Given the description of an element on the screen output the (x, y) to click on. 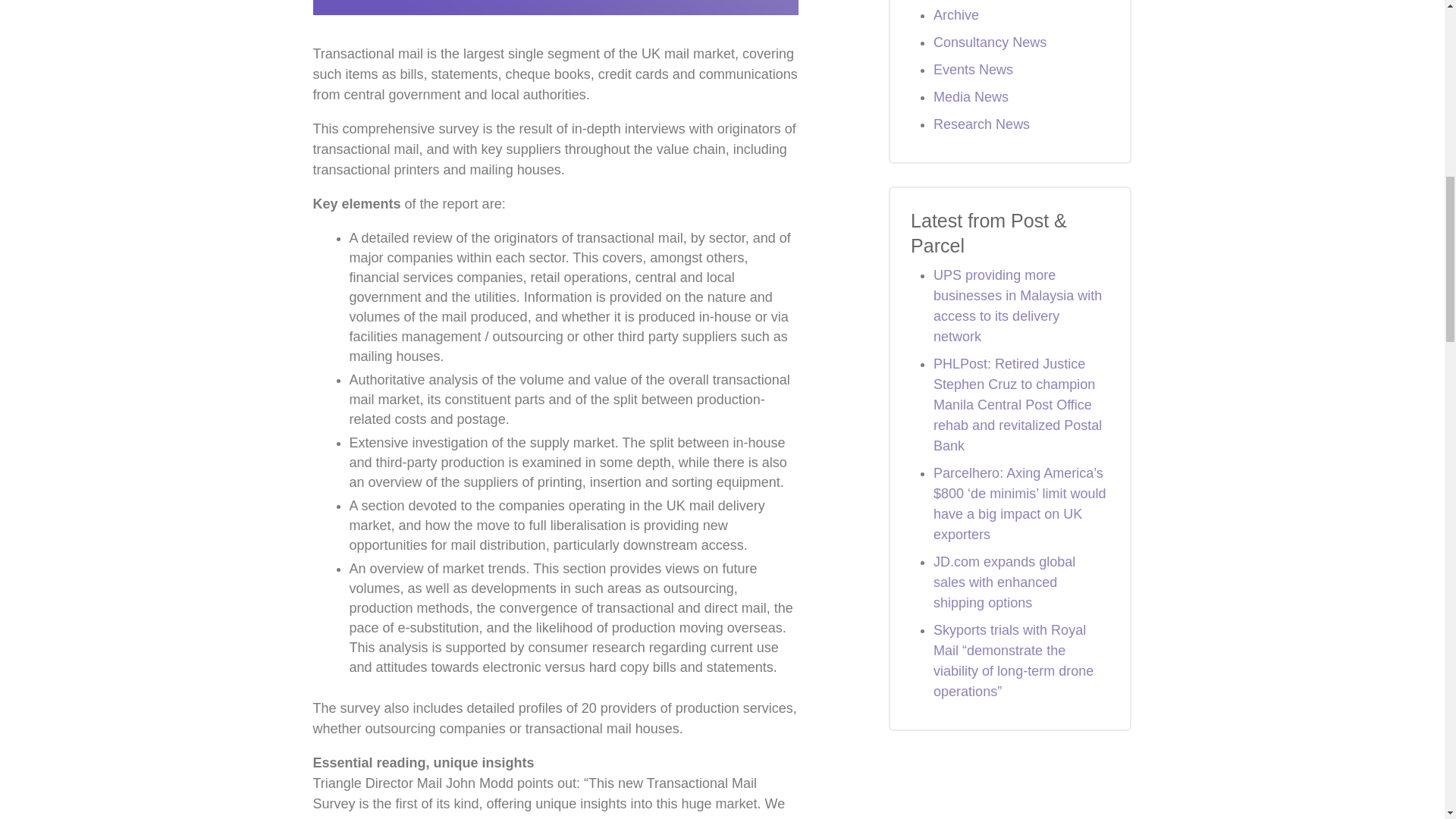
Research News (981, 124)
Archive (955, 14)
Media News (971, 96)
Events News (973, 69)
Consultancy News (989, 42)
